Given the description of an element on the screen output the (x, y) to click on. 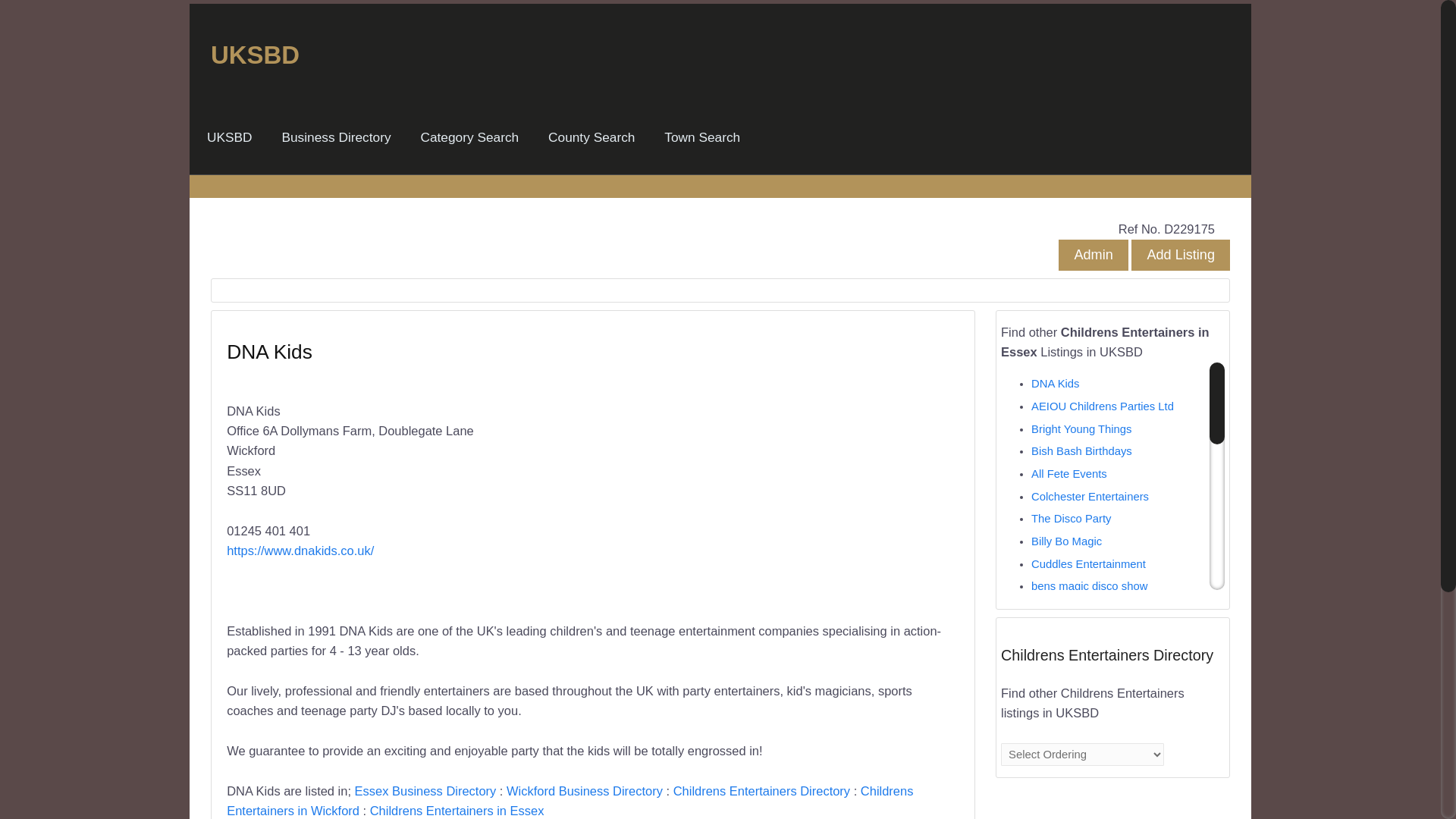
magic ben (1056, 608)
Billy Bo Magic (1066, 541)
The Disco Party (1070, 518)
Bish Bash Birthdays (1081, 451)
Category Search (468, 137)
All Fete Events (1068, 473)
Colchester Entertainers (1089, 496)
bens magic disco show (1088, 585)
Wickford Business Directory (584, 790)
AEIOU Childrens Parties Ltd (1101, 406)
The Party Belles (1071, 766)
Cuddles Entertainment (1087, 563)
Advertisement (775, 486)
County Search (590, 137)
Buzzin Ceramics (1072, 743)
